Given the description of an element on the screen output the (x, y) to click on. 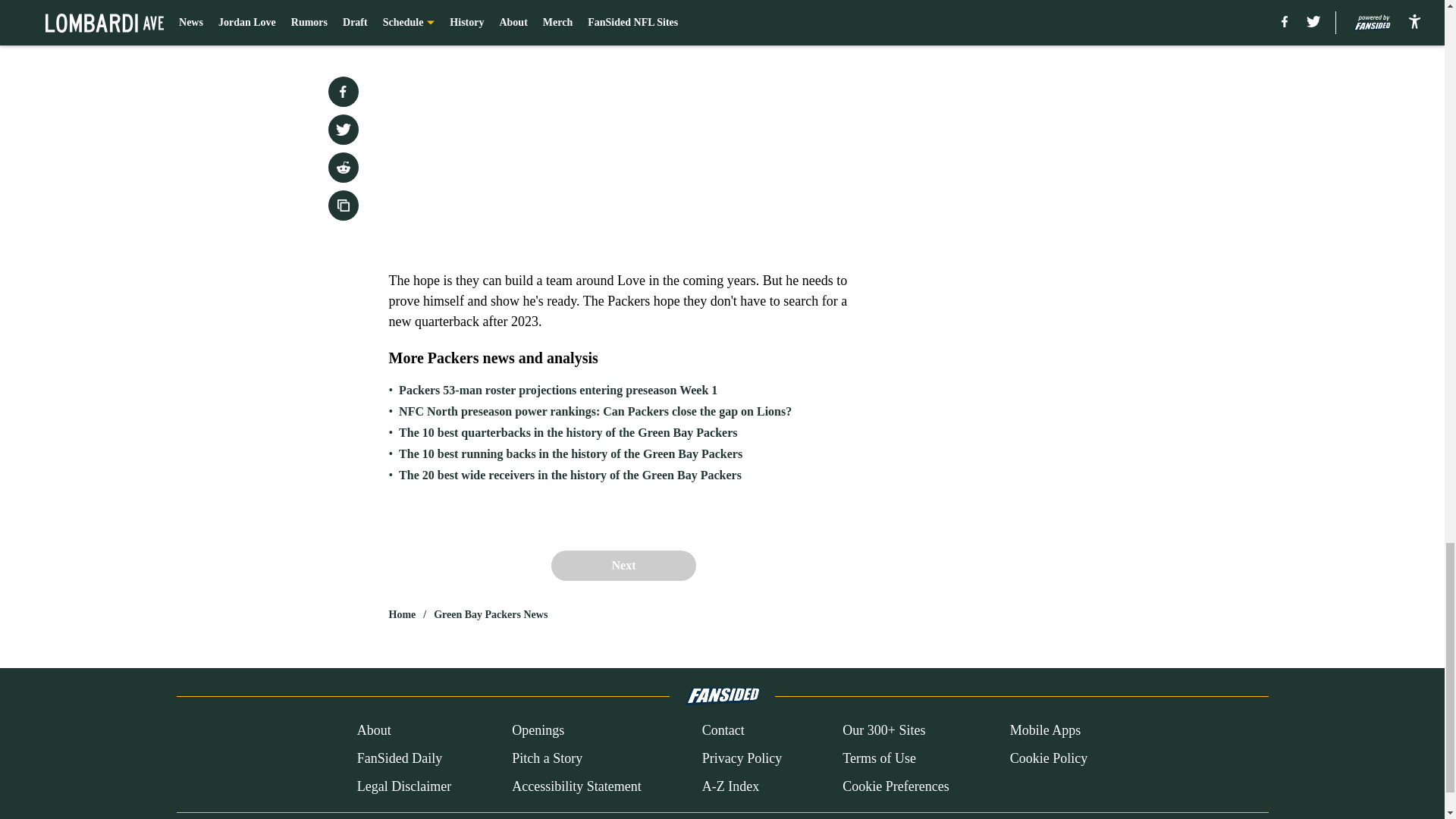
Contact (722, 730)
About (373, 730)
Openings (538, 730)
Mobile Apps (1045, 730)
Next (622, 565)
Packers 53-man roster projections entering preseason Week 1 (557, 390)
FanSided Daily (399, 758)
Pitch a Story (547, 758)
